Given the description of an element on the screen output the (x, y) to click on. 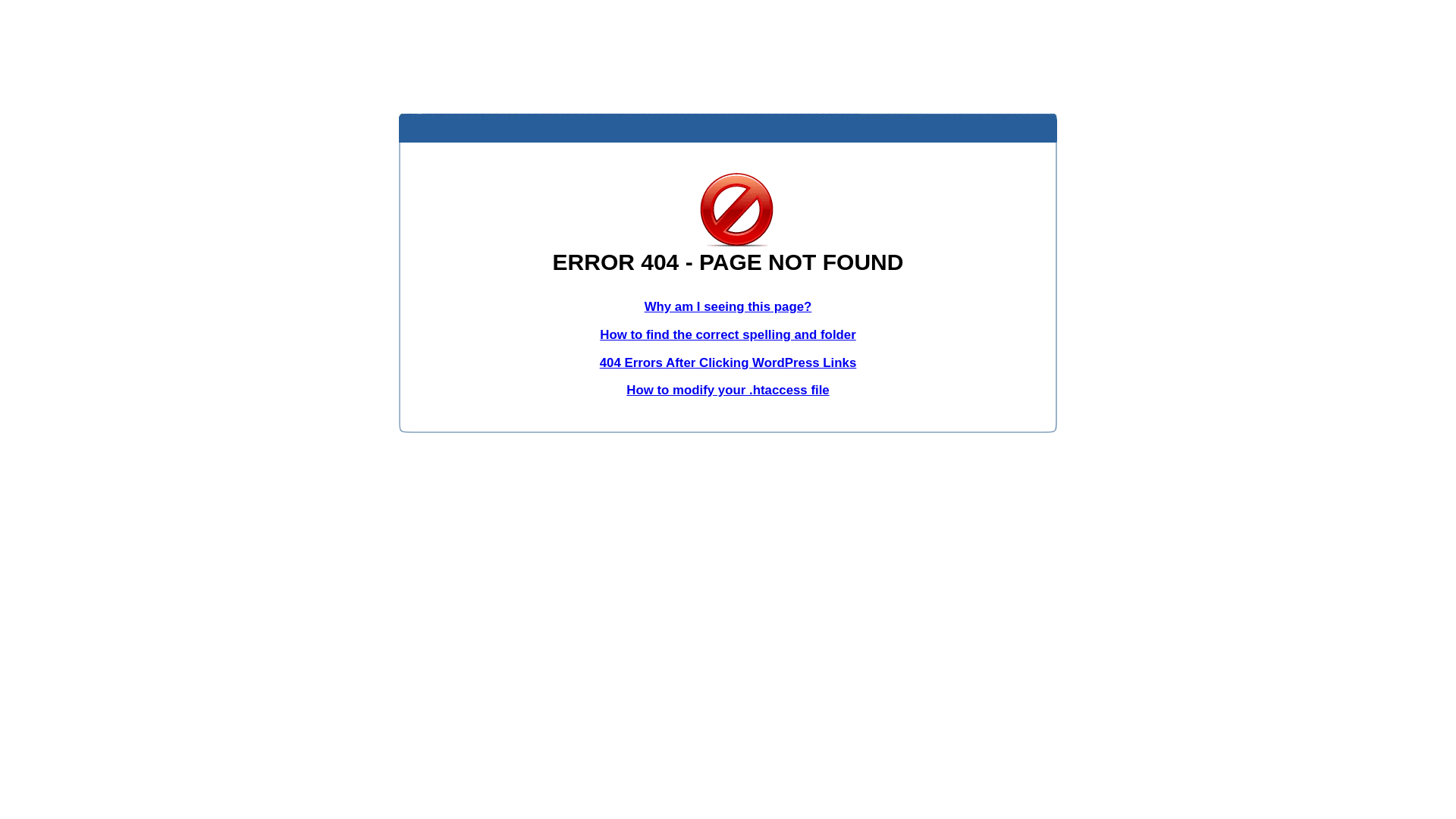
How to find the correct spelling and folder Element type: text (727, 334)
404 Errors After Clicking WordPress Links Element type: text (727, 362)
Why am I seeing this page? Element type: text (728, 306)
How to modify your .htaccess file Element type: text (727, 389)
